Given the description of an element on the screen output the (x, y) to click on. 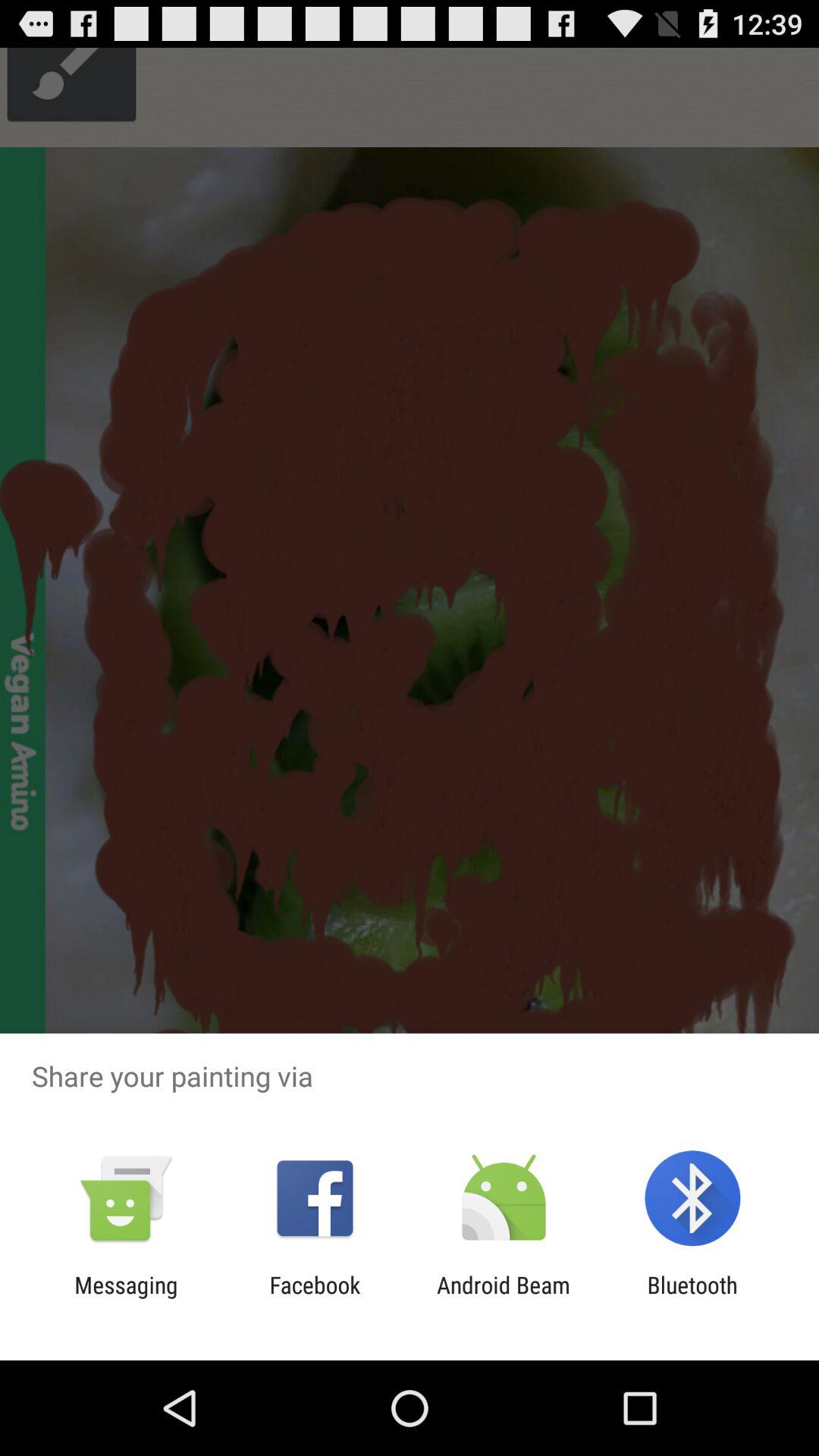
turn off icon to the left of the facebook icon (126, 1298)
